Given the description of an element on the screen output the (x, y) to click on. 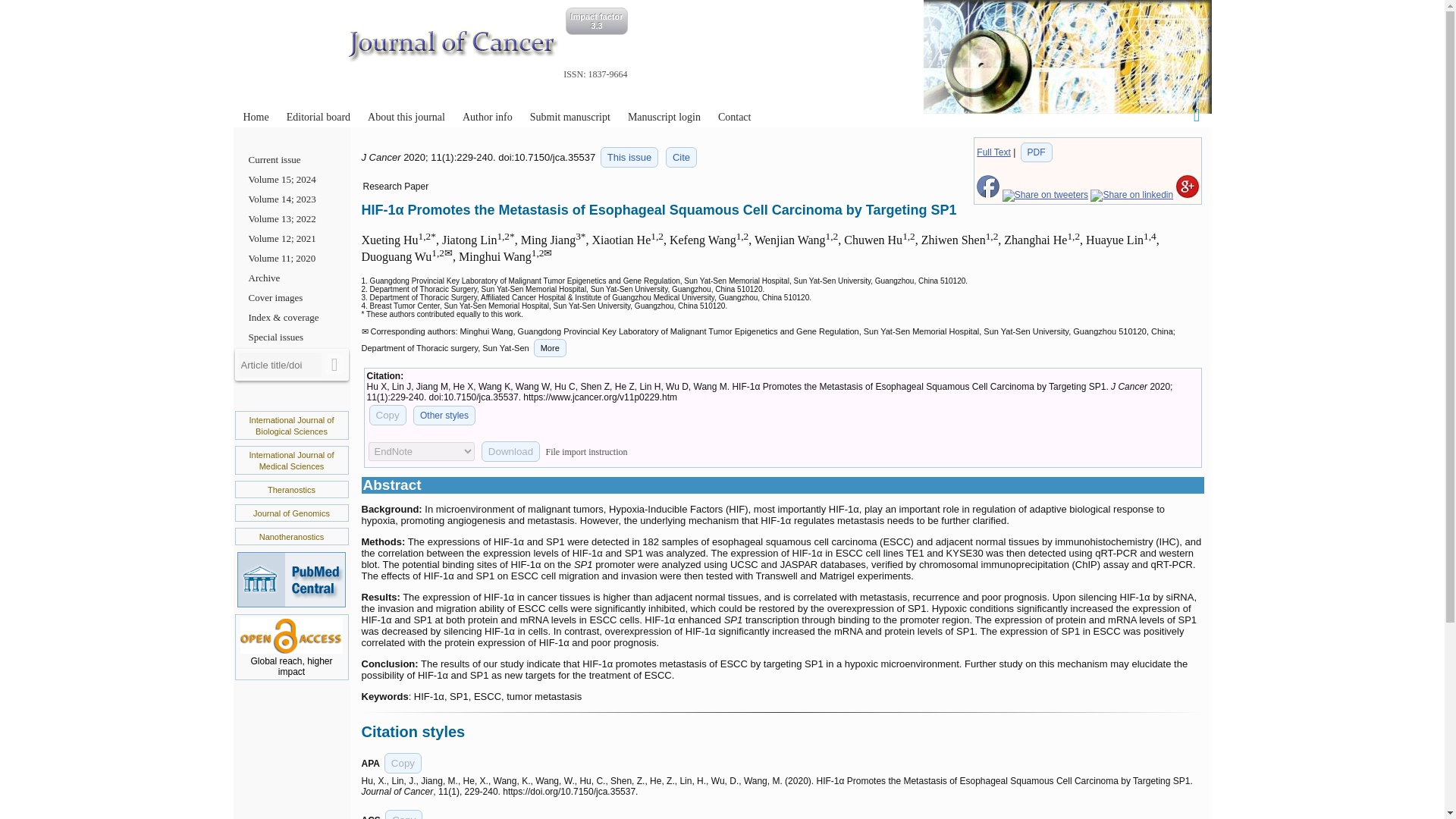
Volume 15; 2024 (291, 179)
Archive (291, 278)
Journal of Genomics (291, 512)
Contact (734, 117)
Manuscript login (663, 117)
Copy (403, 762)
This issue (629, 157)
Copy (387, 414)
Issue 1 listing (629, 157)
Share on tweeters (1045, 194)
Home (255, 117)
Download (510, 451)
Nanotheranostics (291, 536)
Other styles (444, 415)
Submit manuscript (569, 117)
